Given the description of an element on the screen output the (x, y) to click on. 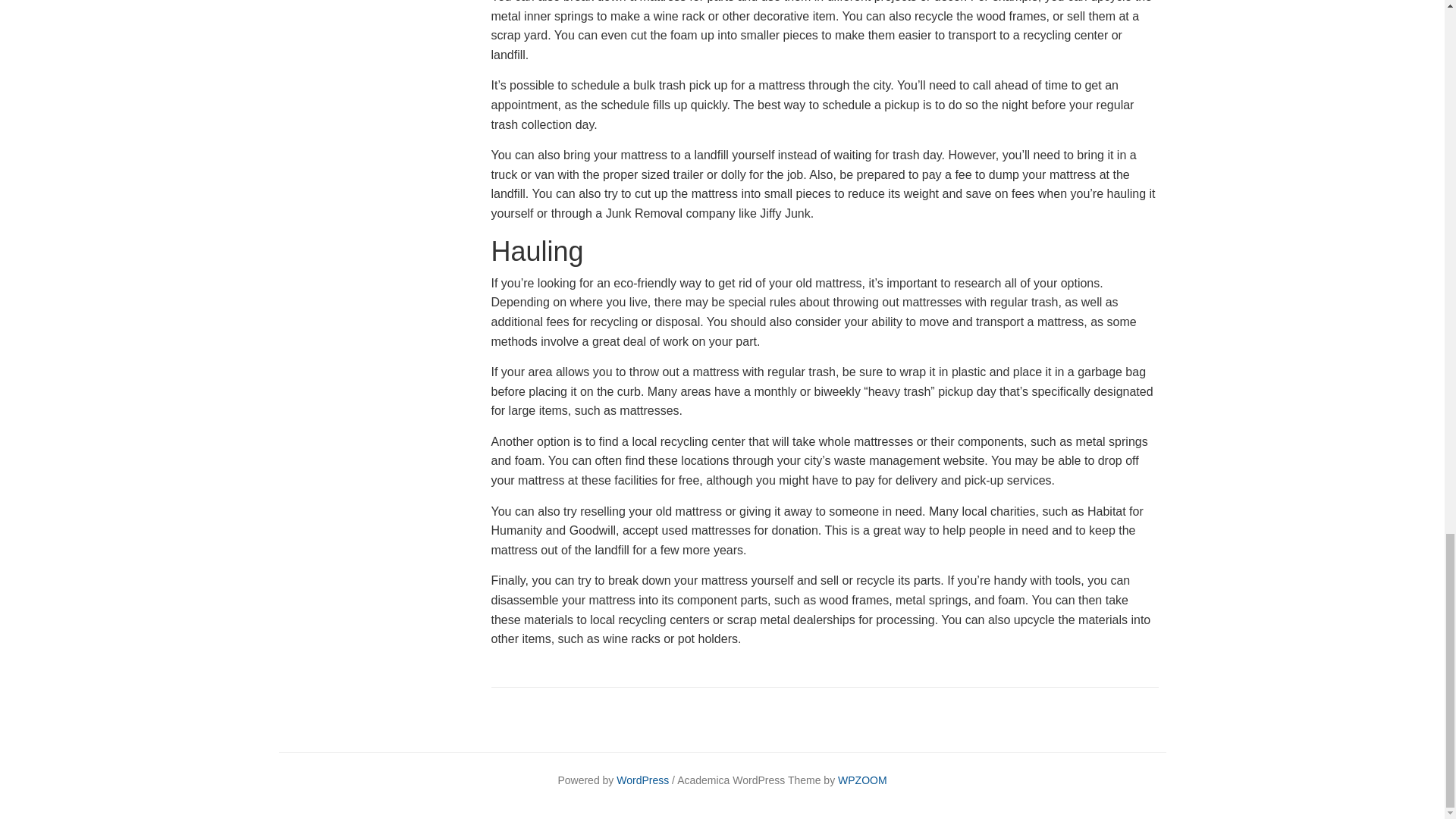
WordPress (641, 779)
WPZOOM (862, 779)
